Given the description of an element on the screen output the (x, y) to click on. 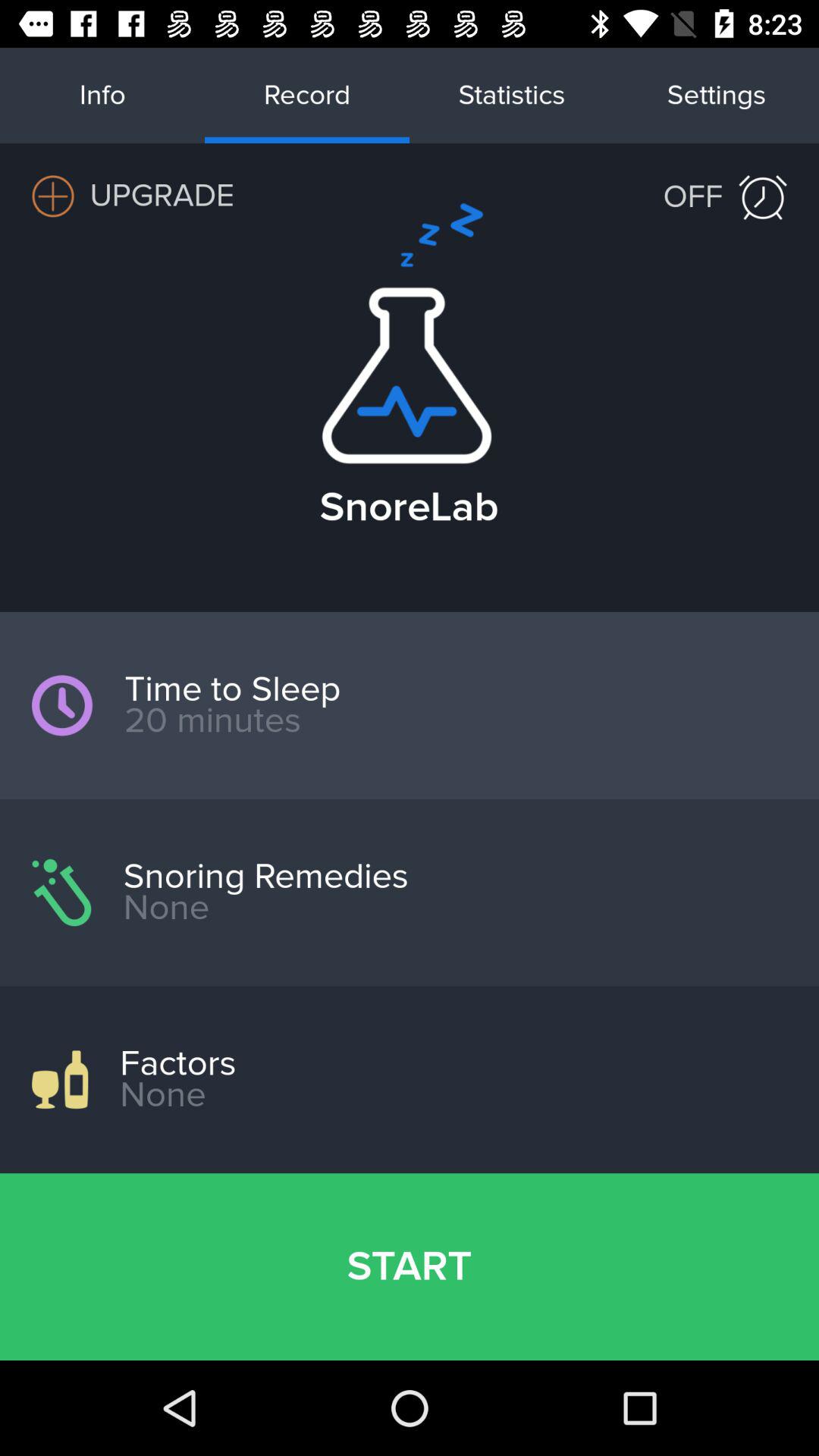
scroll to the start (409, 1266)
